Given the description of an element on the screen output the (x, y) to click on. 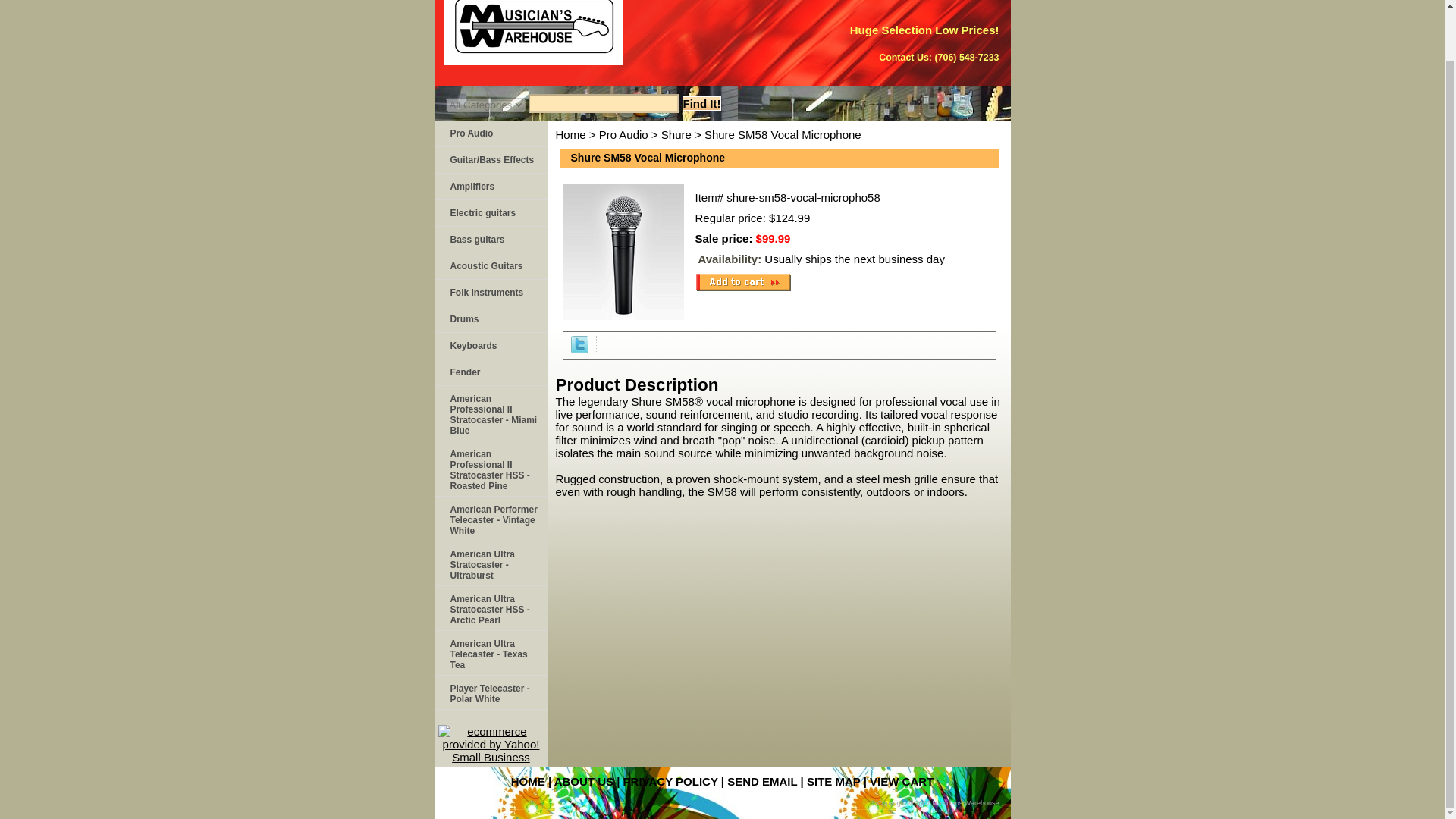
SITE MAP (833, 780)
Acoustic Guitars (490, 266)
Folk Instruments (490, 293)
American Ultra Stratocaster HSS - Arctic Pearl (490, 608)
Fender (490, 372)
Fender (490, 372)
Bass guitars (490, 239)
Folk Instruments (490, 293)
PRIVACY POLICY (670, 780)
American Ultra Stratocaster - Ultraburst (490, 563)
Tweet (579, 349)
Shure (676, 133)
Amplifiers (490, 186)
VIEW CART (901, 780)
Pro Audio (490, 133)
